Given the description of an element on the screen output the (x, y) to click on. 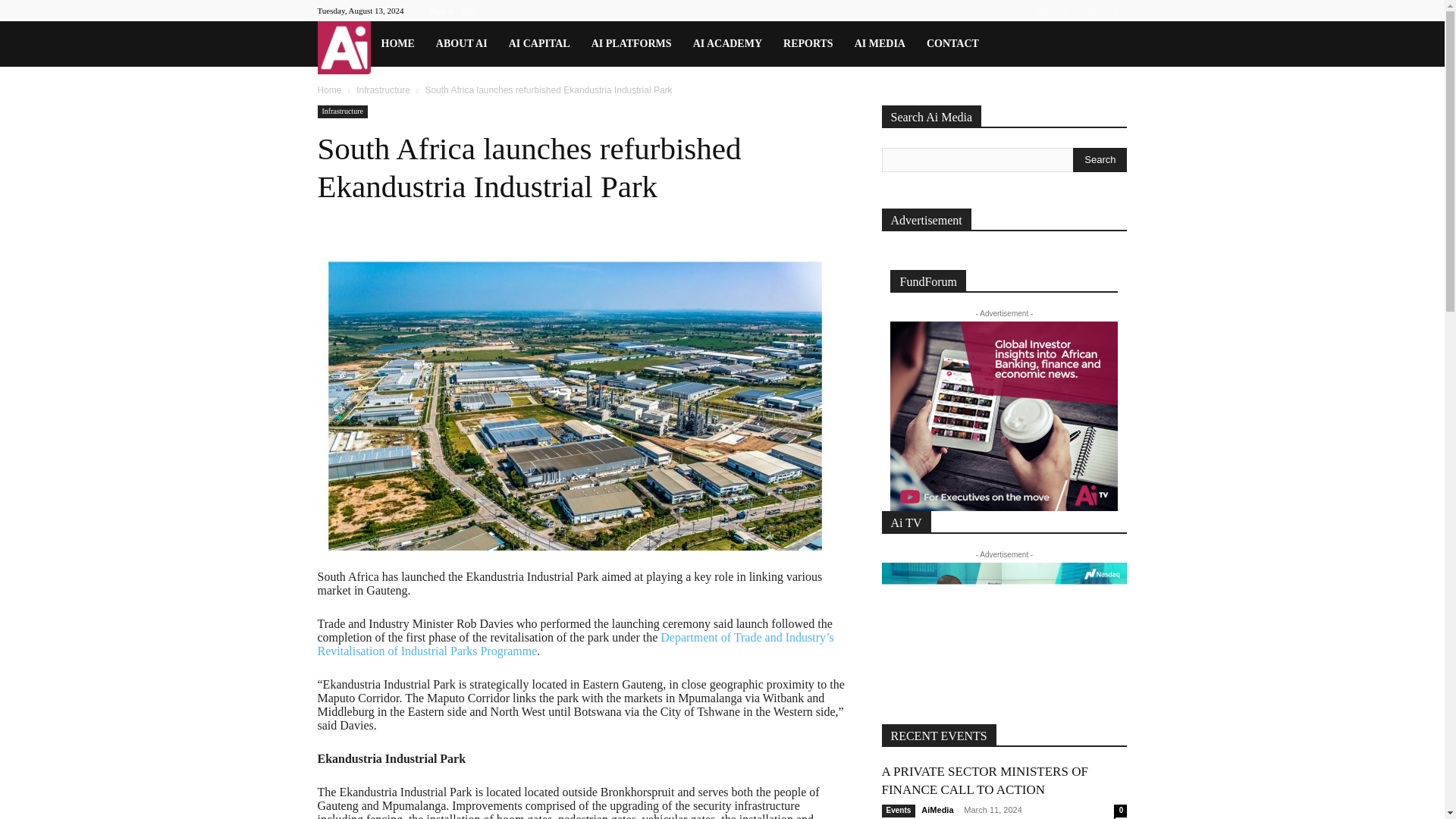
Youtube (1114, 10)
Facebook (1040, 10)
Search (1099, 159)
Twitter (1090, 10)
Linkedin (1065, 10)
